Given the description of an element on the screen output the (x, y) to click on. 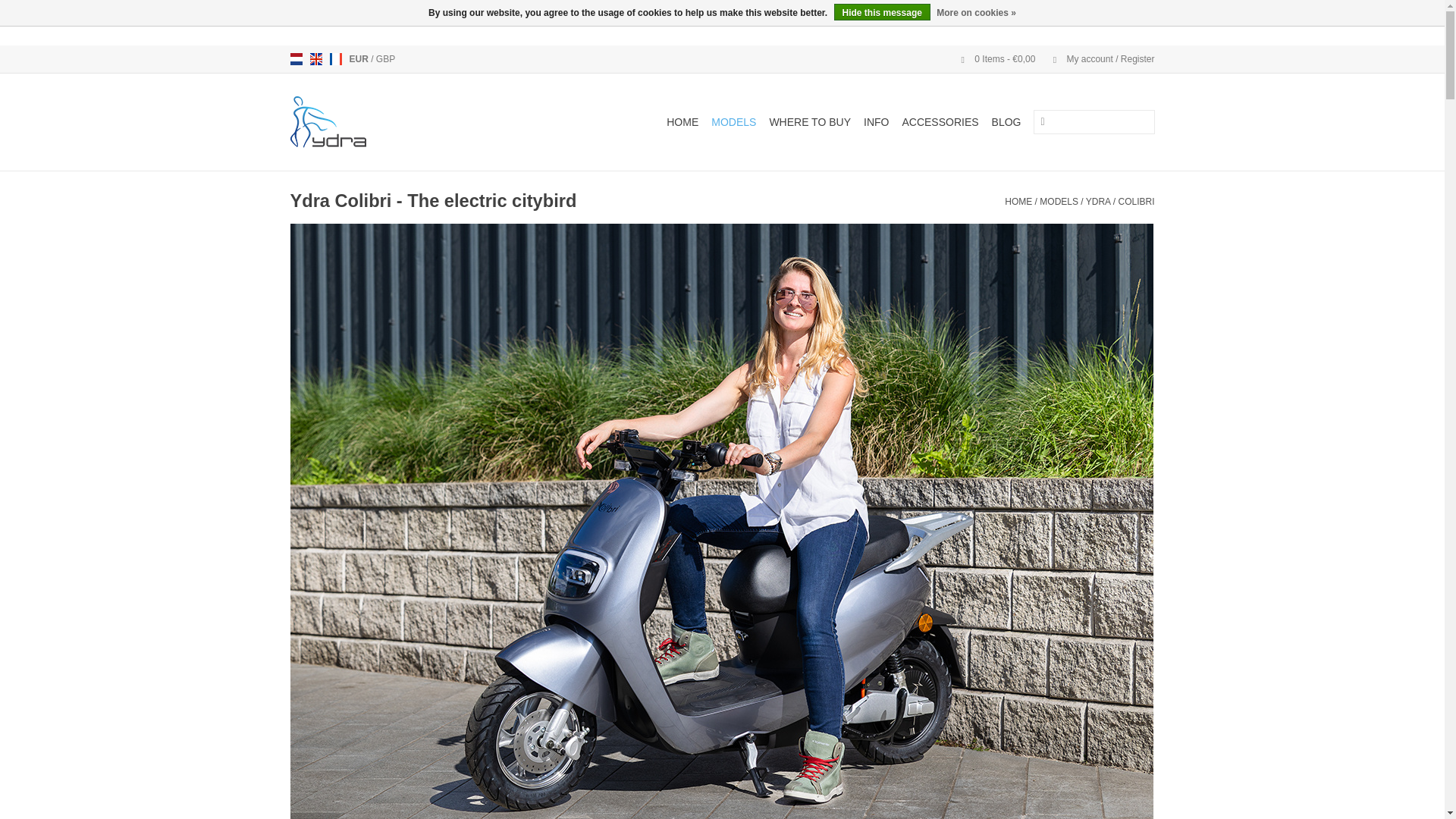
en (314, 59)
WHERE TO BUY (810, 121)
My account (1096, 59)
nl (295, 59)
Nederlands (295, 59)
gbp (384, 59)
ACCESSORIES (939, 121)
English (314, 59)
Cart (992, 59)
MODELS (1058, 201)
